Given the description of an element on the screen output the (x, y) to click on. 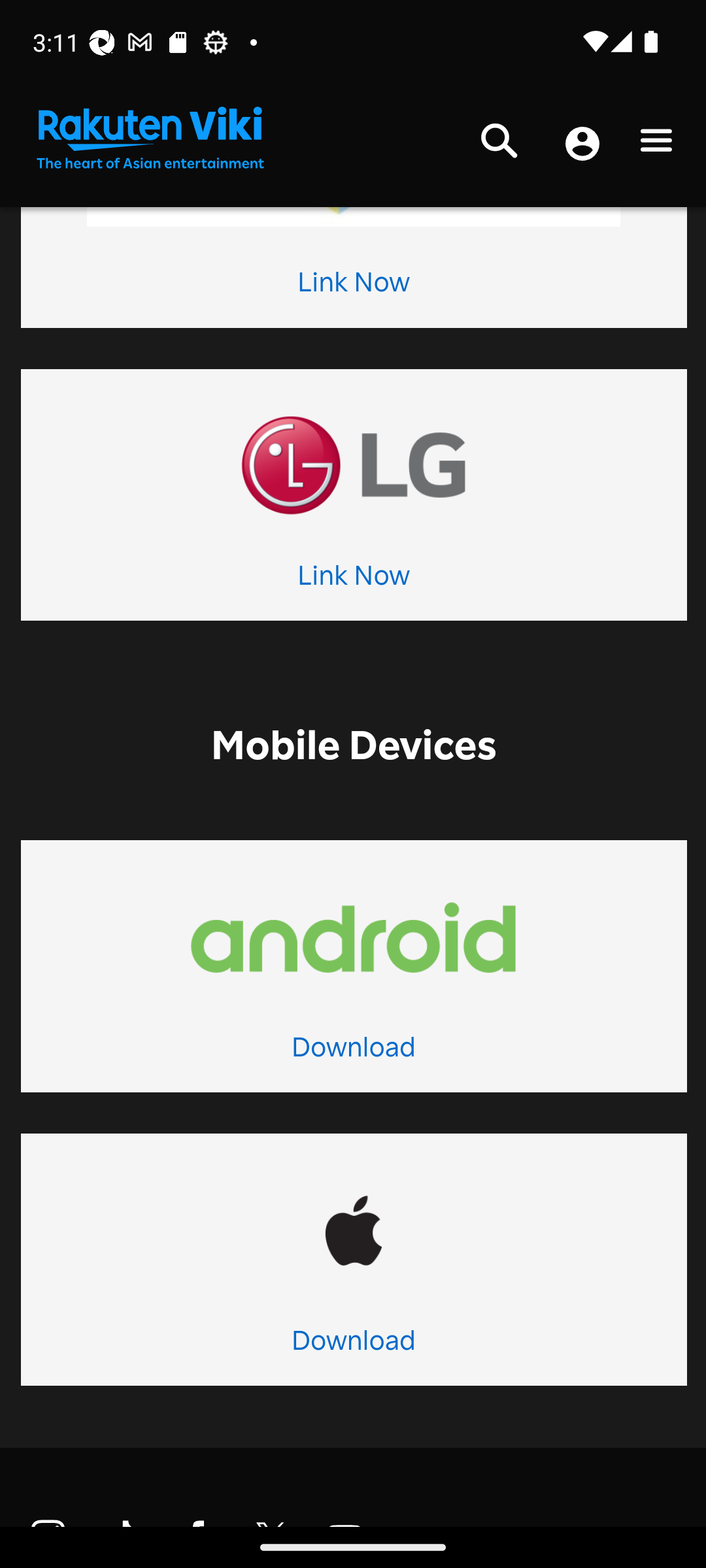
Go to homepage Rakuten Viki (149, 138)
nav.session.login (582, 146)
Settings menu (655, 144)
Link Now (353, 286)
Link Now (353, 579)
Download (352, 1051)
Download (352, 1344)
